Given the description of an element on the screen output the (x, y) to click on. 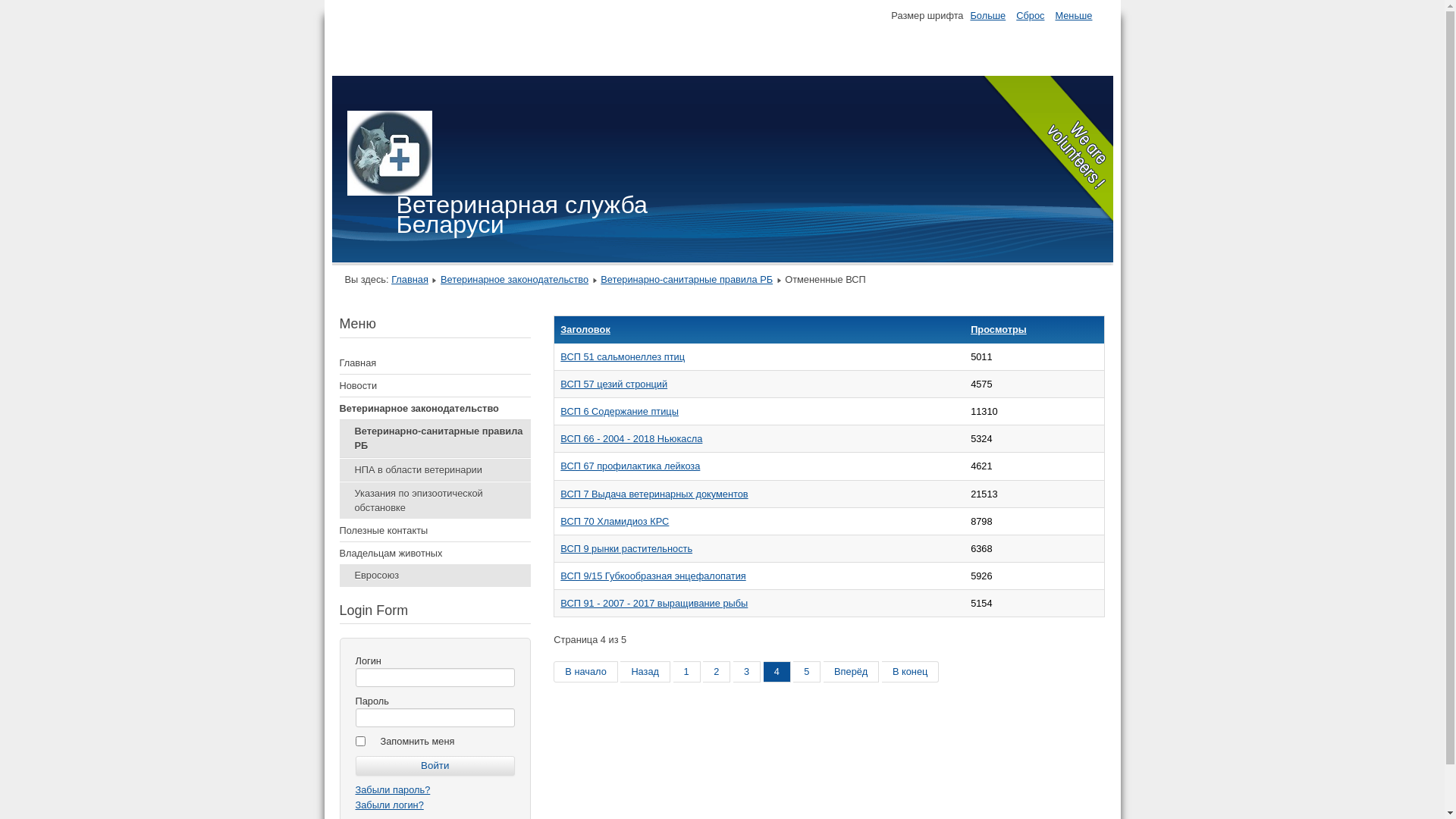
3 Element type: text (746, 671)
1 Element type: text (686, 671)
5 Element type: text (806, 671)
2 Element type: text (716, 671)
